Given the description of an element on the screen output the (x, y) to click on. 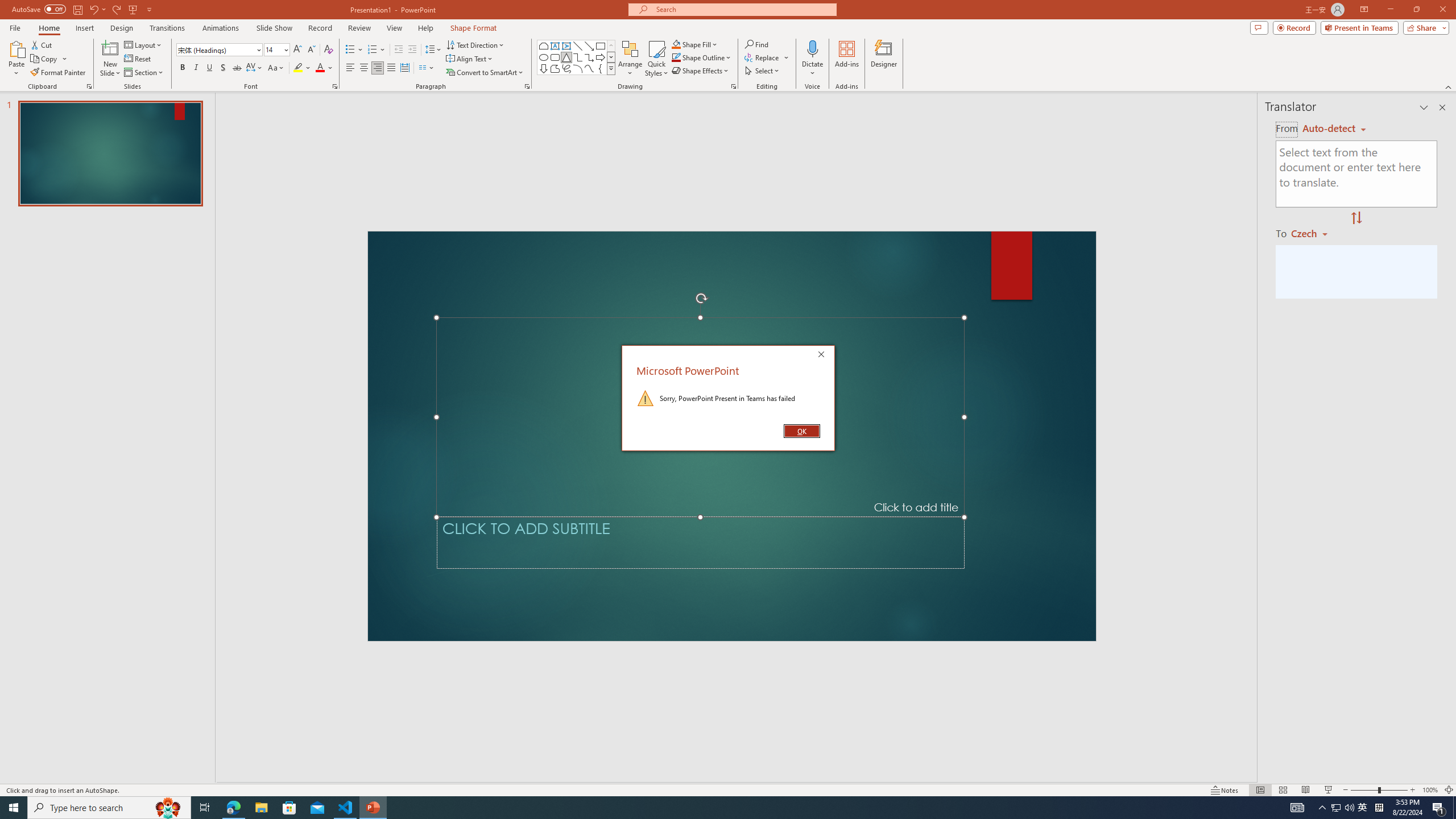
Action Center, 1 new notification (1439, 807)
Zoom 100% (1430, 790)
